Given the description of an element on the screen output the (x, y) to click on. 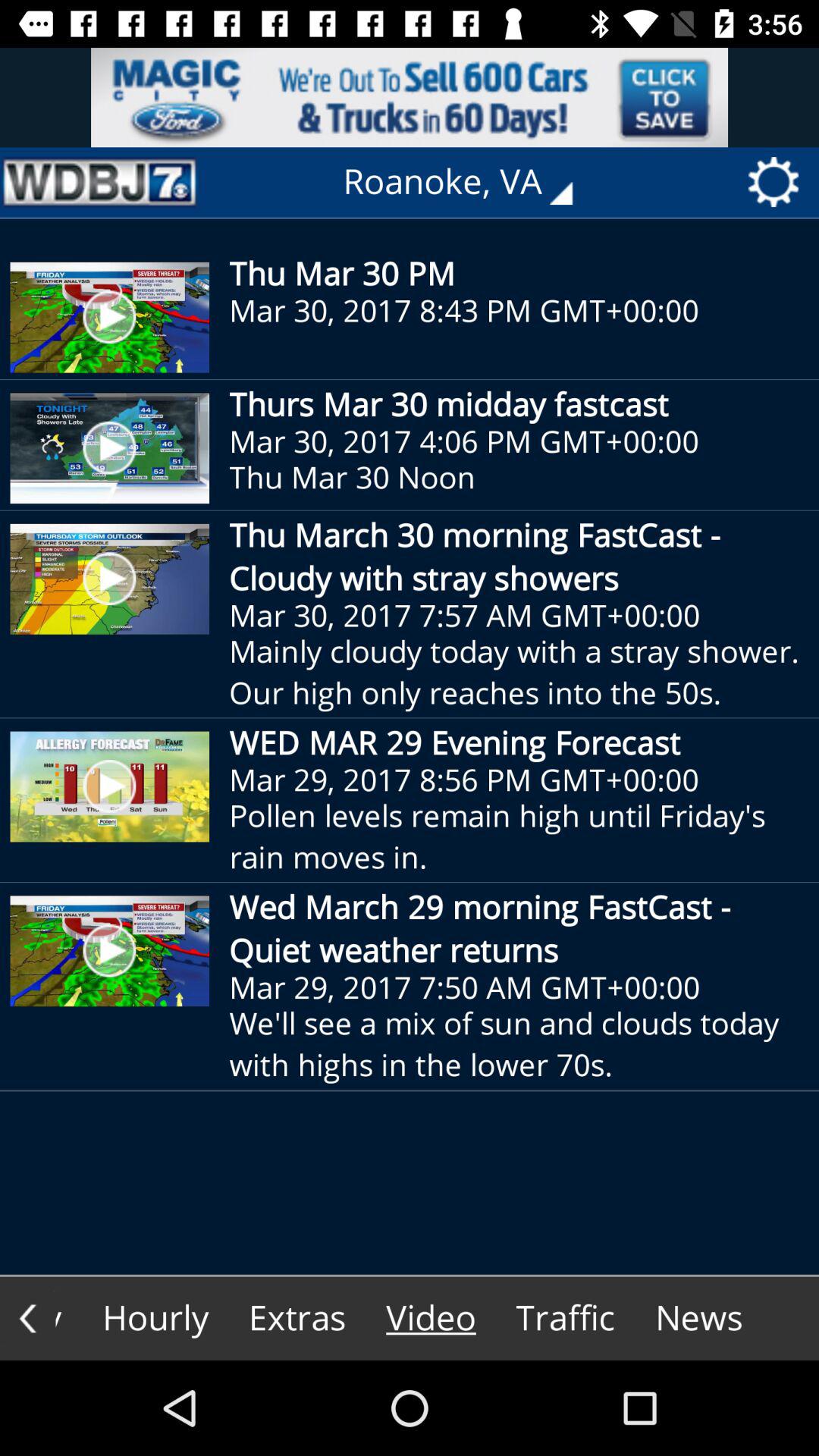
select the advertisement option above (409, 97)
